Given the description of an element on the screen output the (x, y) to click on. 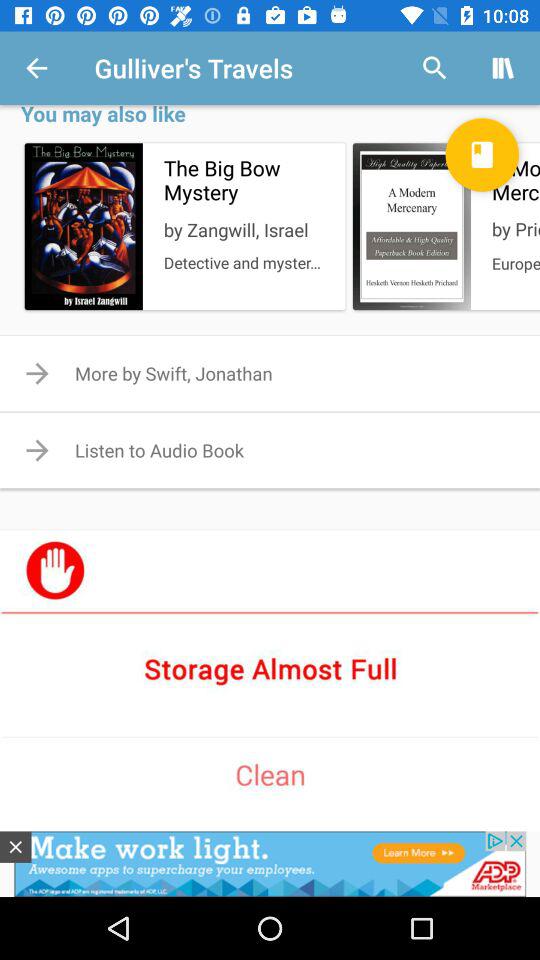
close this advertisement by clicking here (15, 846)
